Given the description of an element on the screen output the (x, y) to click on. 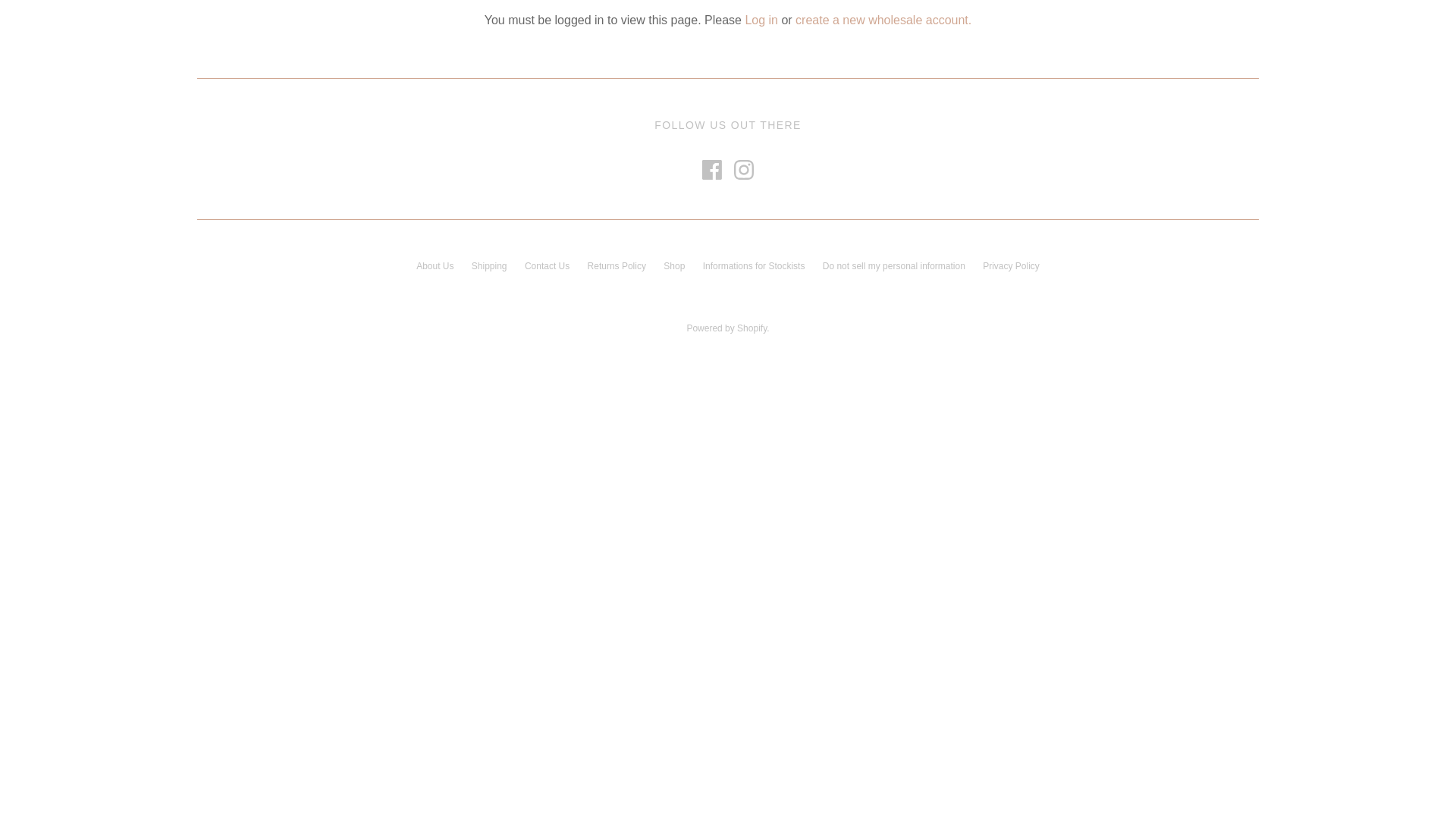
About Us Element type: text (434, 265)
Privacy Policy Element type: text (1010, 265)
Do not sell my personal information Element type: text (893, 265)
Powered by Shopify Element type: text (726, 328)
Contact Us Element type: text (546, 265)
create a new wholesale account. Element type: text (883, 19)
Returns Policy Element type: text (616, 265)
Shop Element type: text (673, 265)
Log in Element type: text (761, 19)
Informations for Stockists Element type: text (753, 265)
Shipping Element type: text (489, 265)
